Given the description of an element on the screen output the (x, y) to click on. 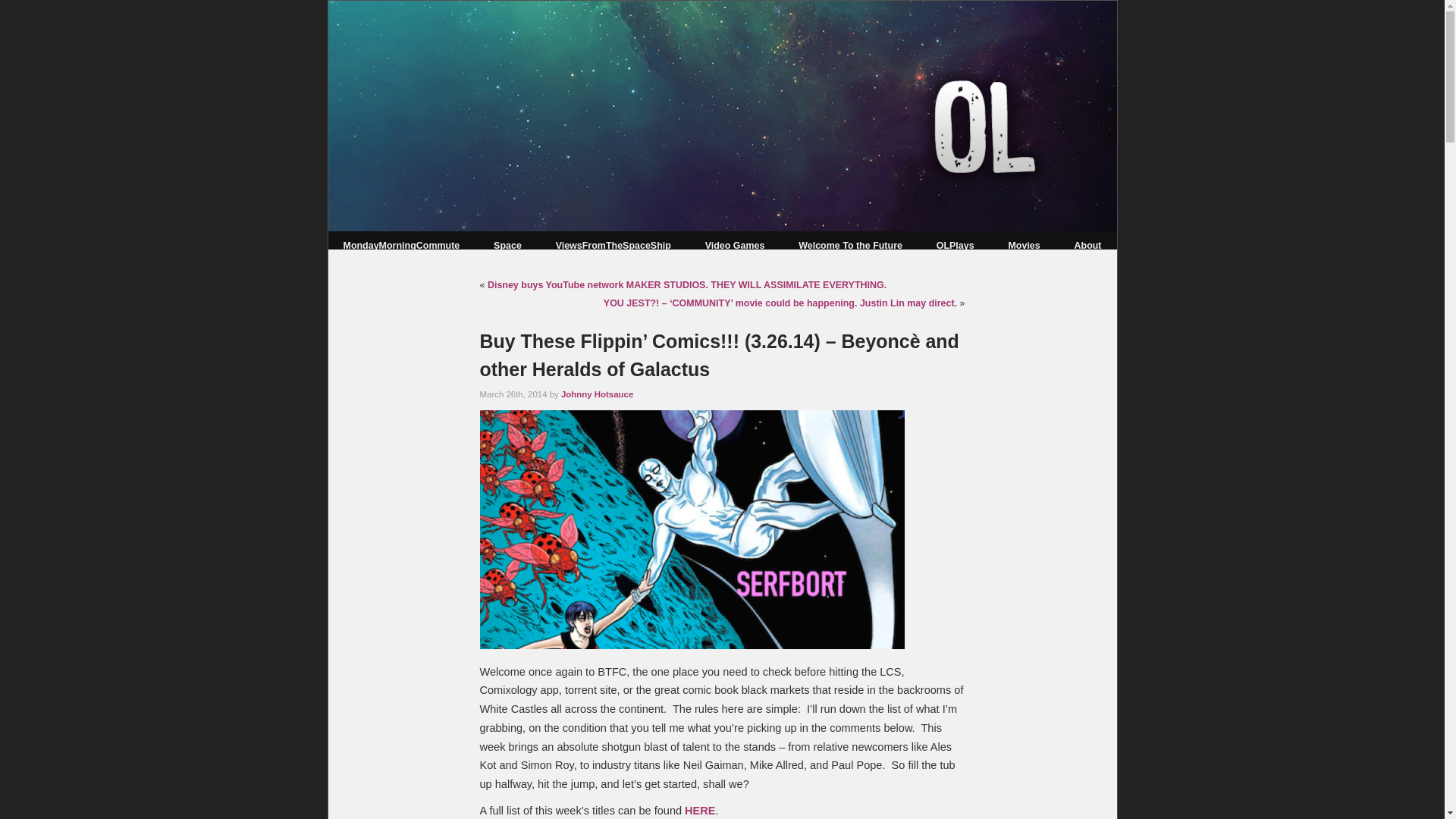
Video Games (734, 245)
Space (507, 245)
Movies (1023, 245)
About (1088, 245)
ViewsFromTheSpaceShip (613, 245)
OLPlays (955, 245)
MondayMorningCommute (401, 245)
HERE (699, 810)
Welcome To the Future (849, 245)
